Given the description of an element on the screen output the (x, y) to click on. 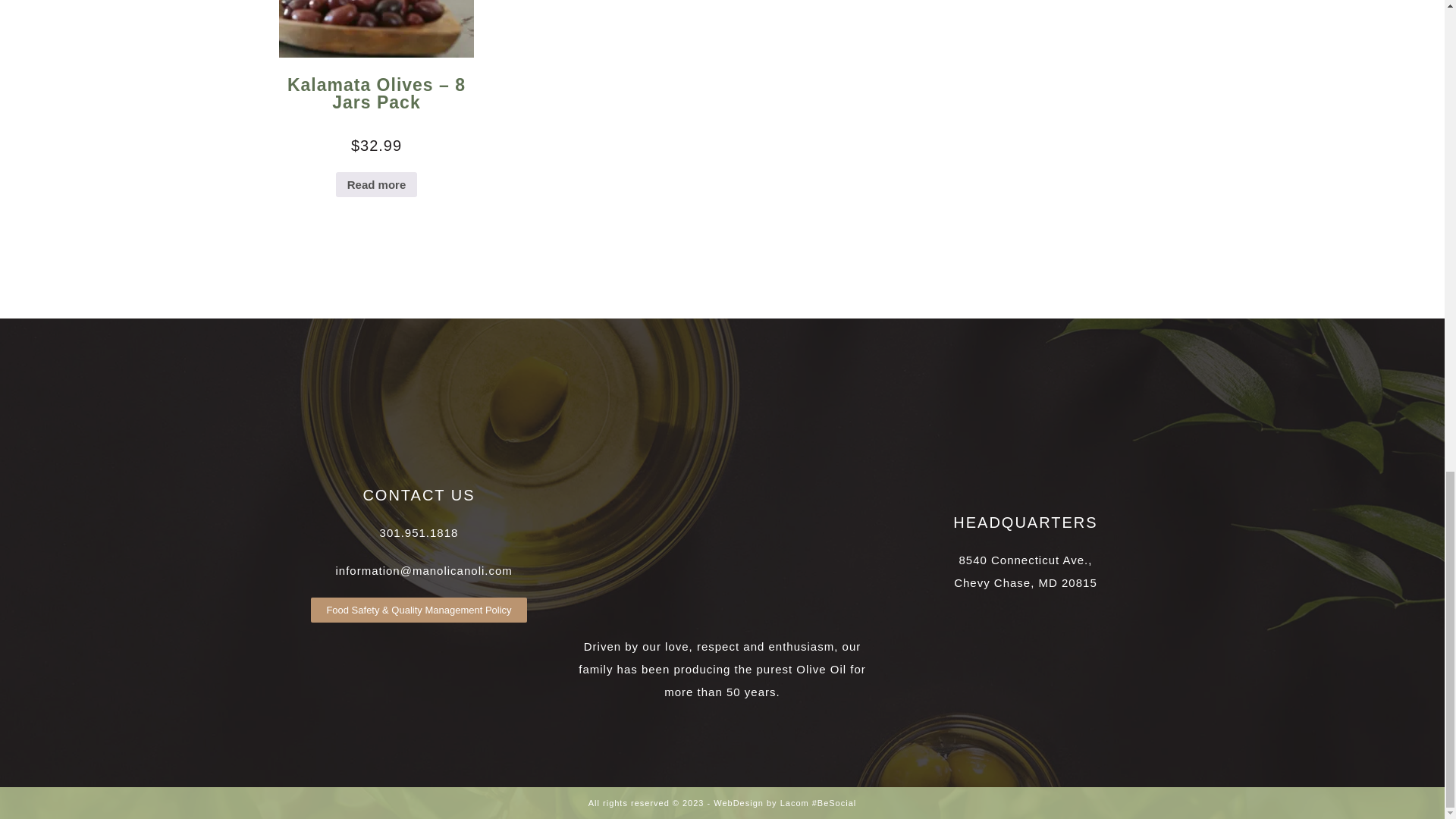
Read more (376, 184)
8540 Connecticut Ave., Chevy Chase, MD 20815 (1025, 570)
301.951.1818 (419, 532)
